Given the description of an element on the screen output the (x, y) to click on. 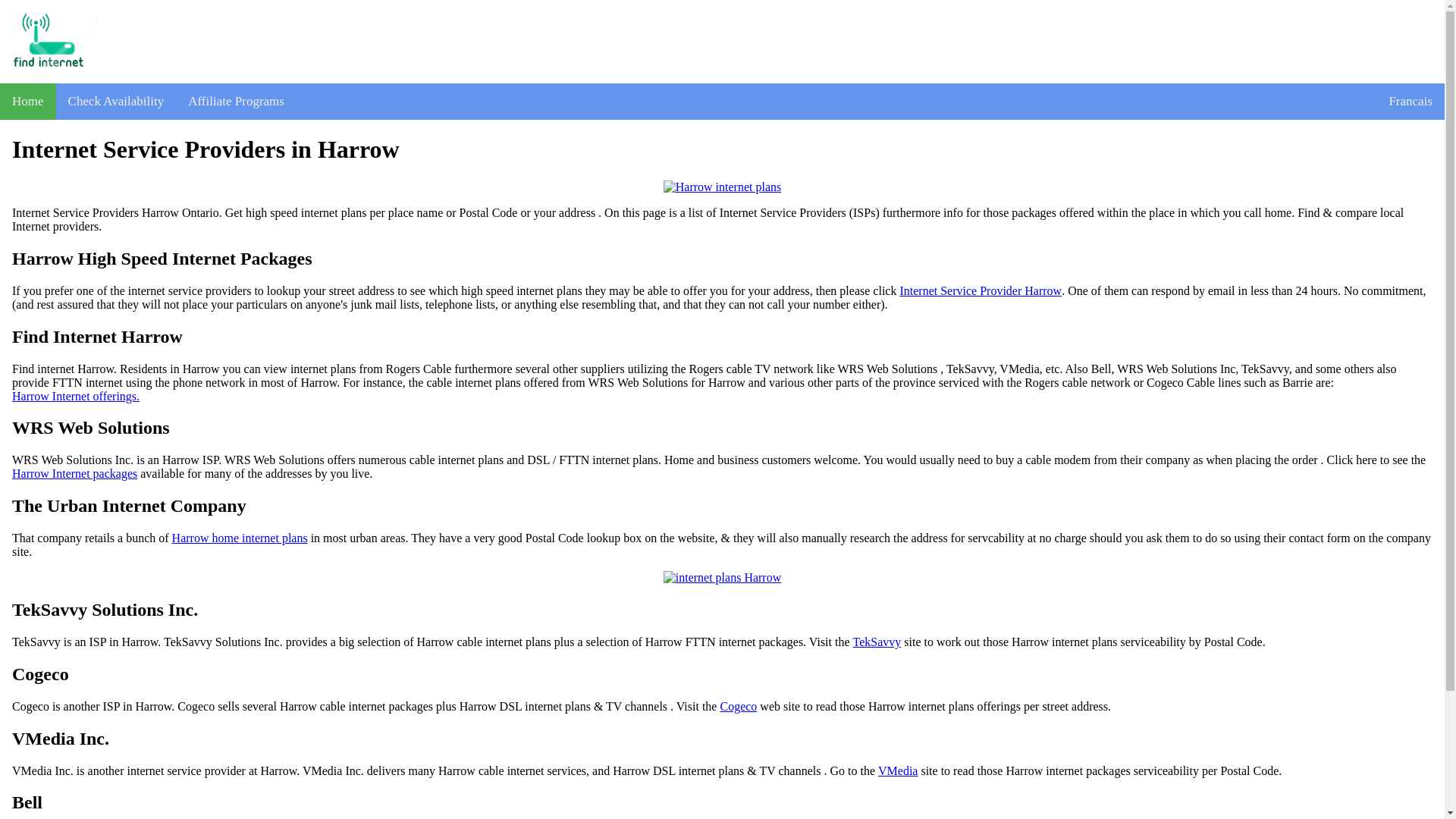
Internet Service Provider Harrow (980, 291)
VMedia (897, 771)
Check Availability (116, 101)
Affiliate Programs (236, 101)
Harrow Internet packages (73, 473)
Cogeco (738, 706)
Home (28, 101)
Harrow Internet offerings. (75, 396)
TekSavvy (877, 642)
Harrow home internet plans (239, 538)
